Given the description of an element on the screen output the (x, y) to click on. 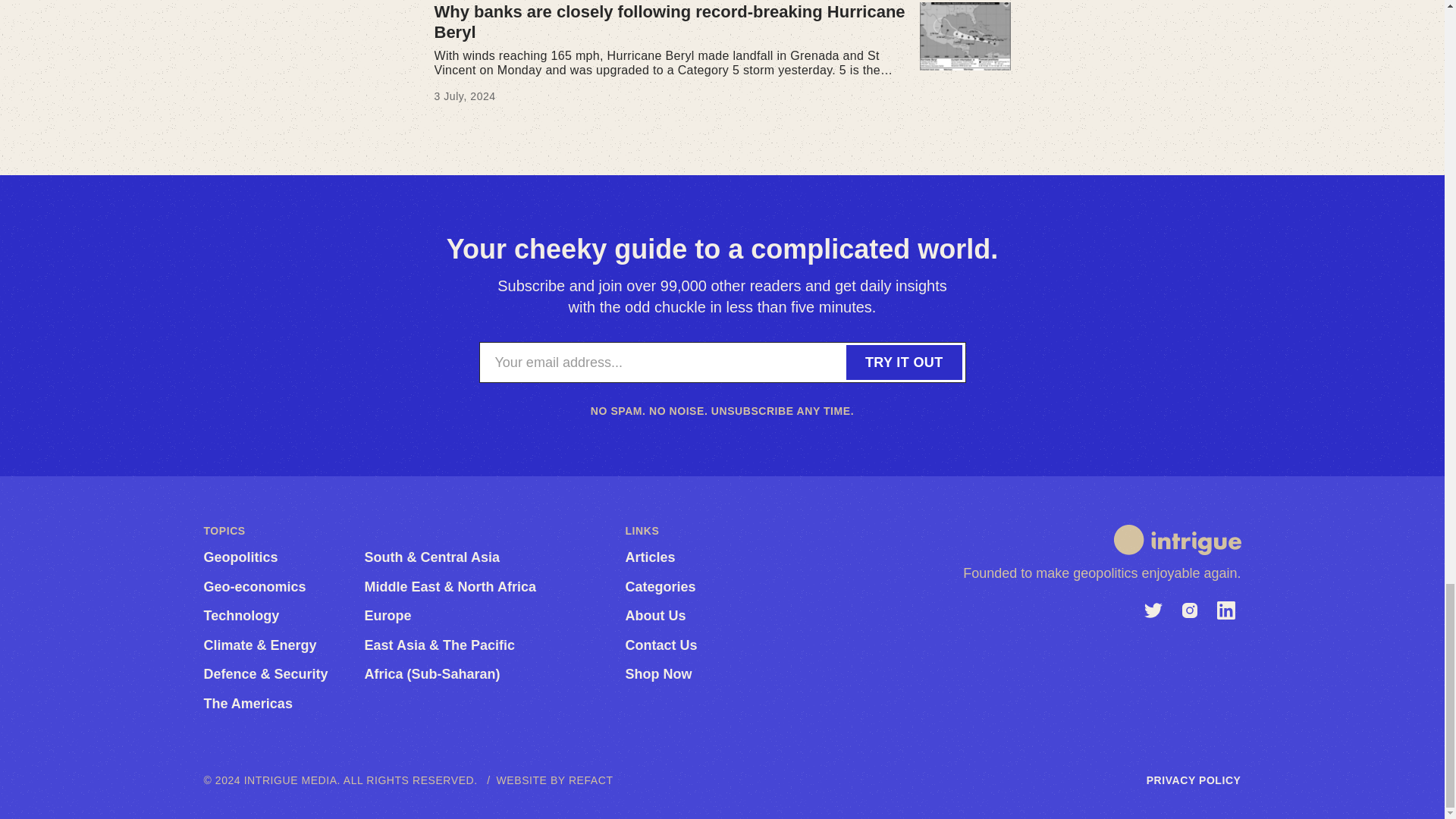
Try it out (903, 362)
